Given the description of an element on the screen output the (x, y) to click on. 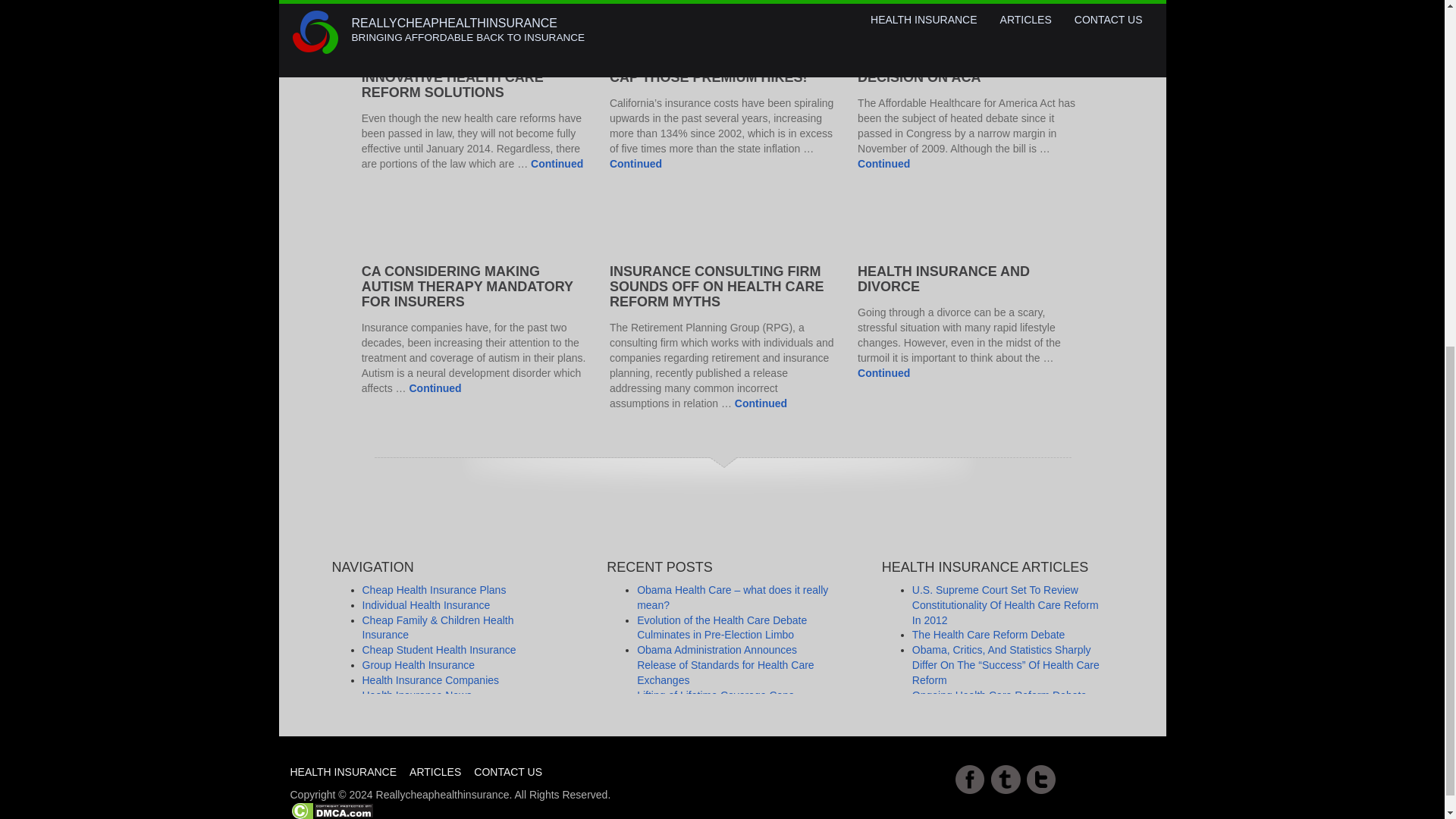
Continued (636, 163)
Health Insurance Companies (430, 680)
Group Health Insurance (419, 664)
Continued (557, 163)
Individual Health Insurance (426, 604)
Cheap Health Insurance Plans (434, 589)
CA LEGISLATURE TO INSURERS: CAP THOSE PREMIUM HIKES! (719, 69)
Continued (761, 403)
Continued (883, 372)
PSILOS GROUP OFFERS INNOVATIVE HEALTH CARE REFORM SOLUTIONS (452, 76)
HEALTH INSURANCE AND DIVORCE (943, 278)
Continued (883, 163)
FEDERAL JUDGE STAYS OWN DECISION ON ACA (957, 69)
